Given the description of an element on the screen output the (x, y) to click on. 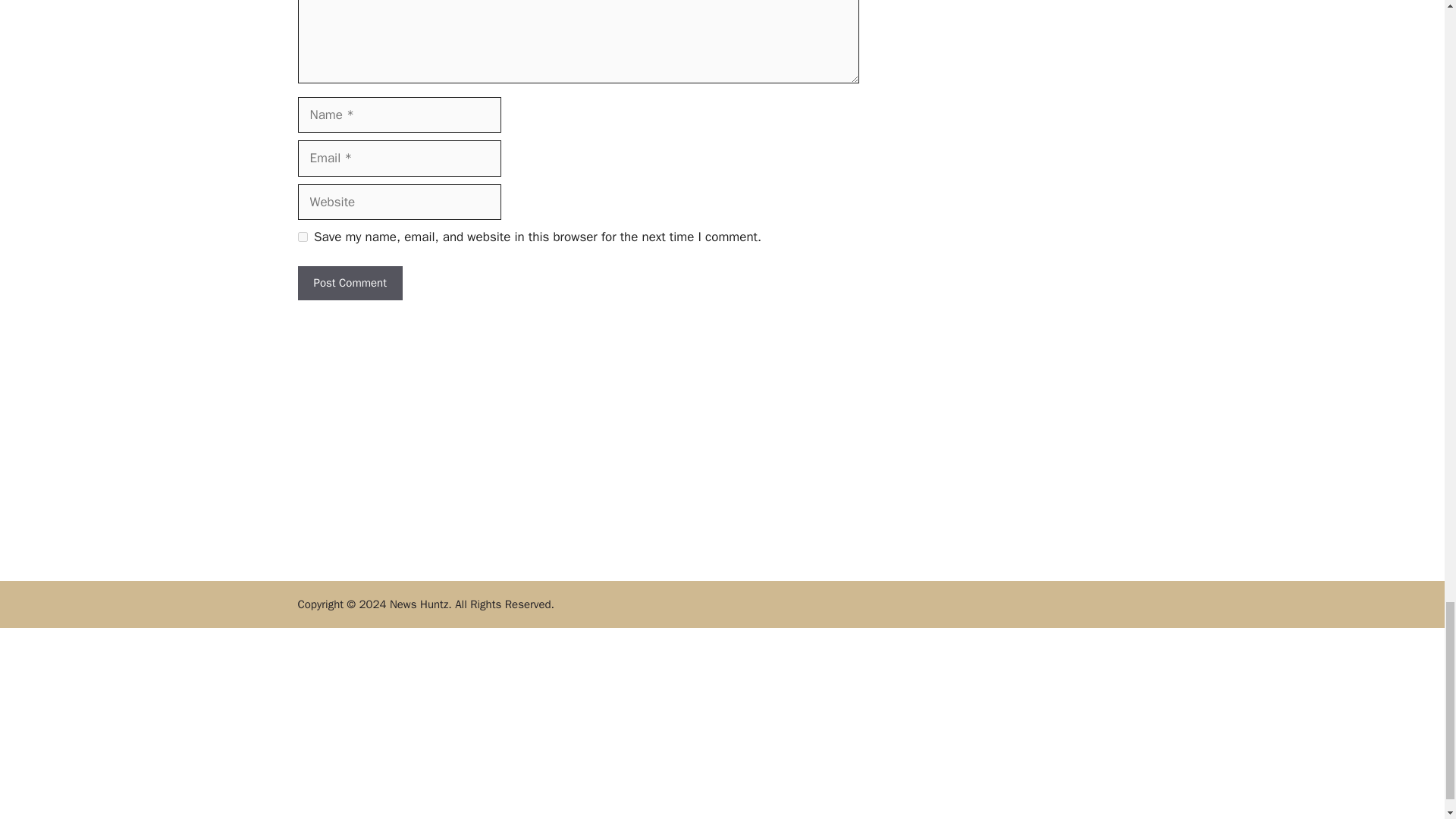
Post Comment (349, 283)
Post Comment (349, 283)
yes (302, 236)
